Given the description of an element on the screen output the (x, y) to click on. 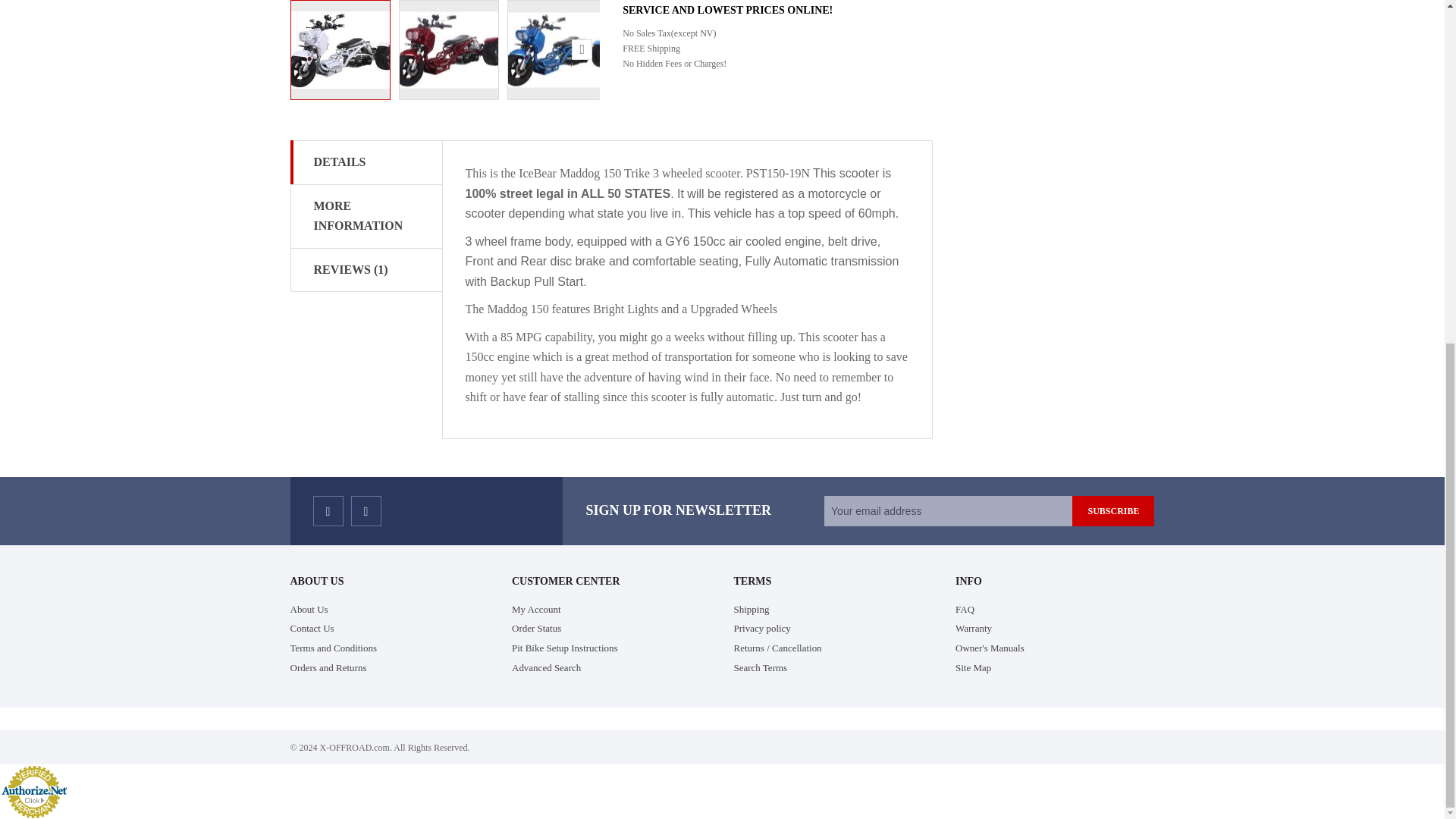
Your email address (947, 511)
